Given the description of an element on the screen output the (x, y) to click on. 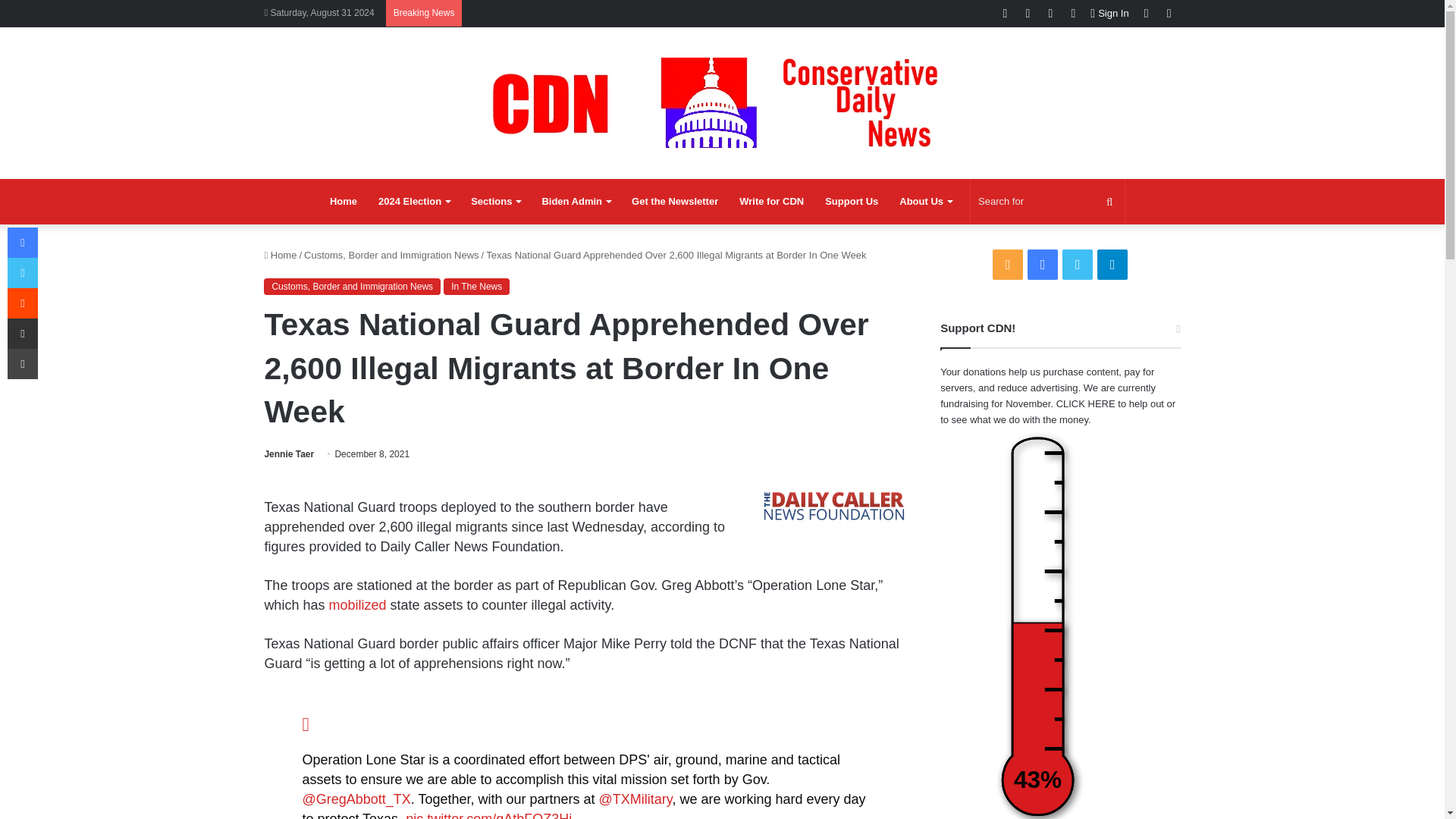
Sections (495, 201)
Search for (1047, 201)
Conservative Daily News (721, 102)
Get the Newsletter (675, 201)
Biden Admin (576, 201)
Home (343, 201)
2024 Election (414, 201)
Become a CDN Contributor (771, 201)
Support CDN With a Small Donation (850, 201)
Jennie Taer (288, 453)
